Given the description of an element on the screen output the (x, y) to click on. 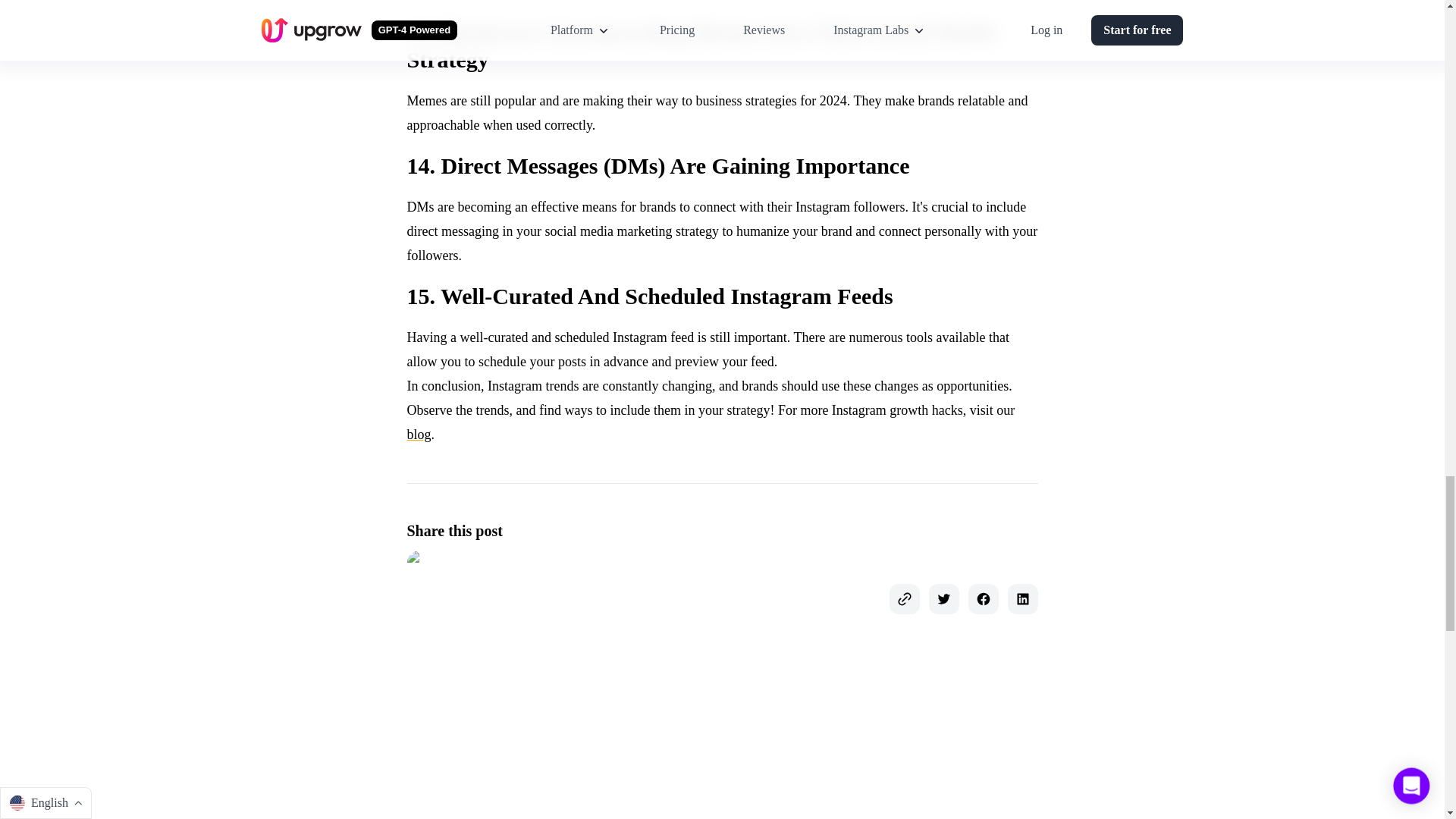
blog (418, 434)
Twitter (943, 598)
LinkedIn (1021, 598)
Facebook (982, 598)
